Given the description of an element on the screen output the (x, y) to click on. 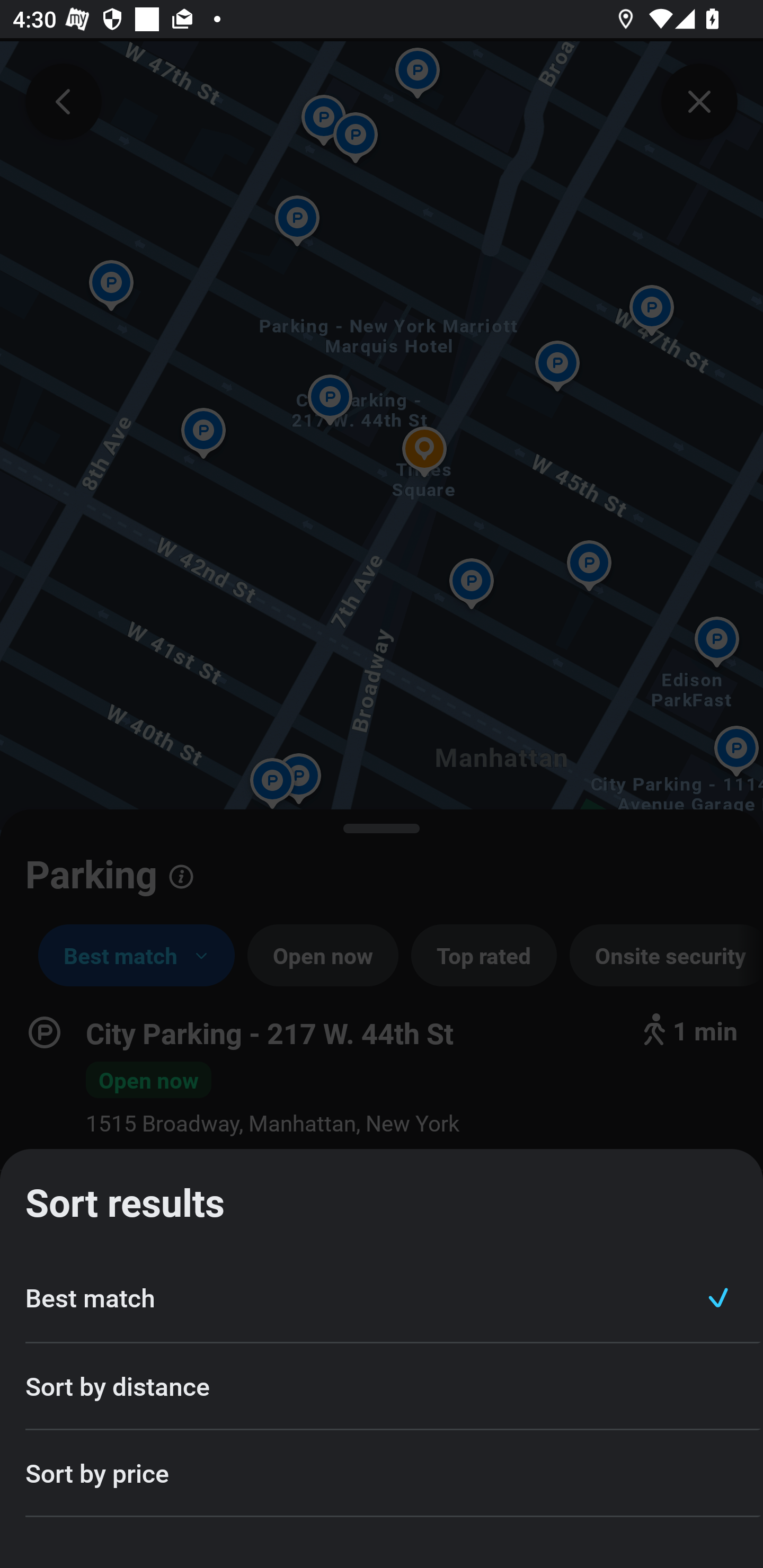
Best match ACTION_CELL_TEXT (381, 1297)
Sort by distance ACTION_CELL_TEXT (381, 1386)
Sort by price ACTION_CELL_TEXT (381, 1473)
